Given the description of an element on the screen output the (x, y) to click on. 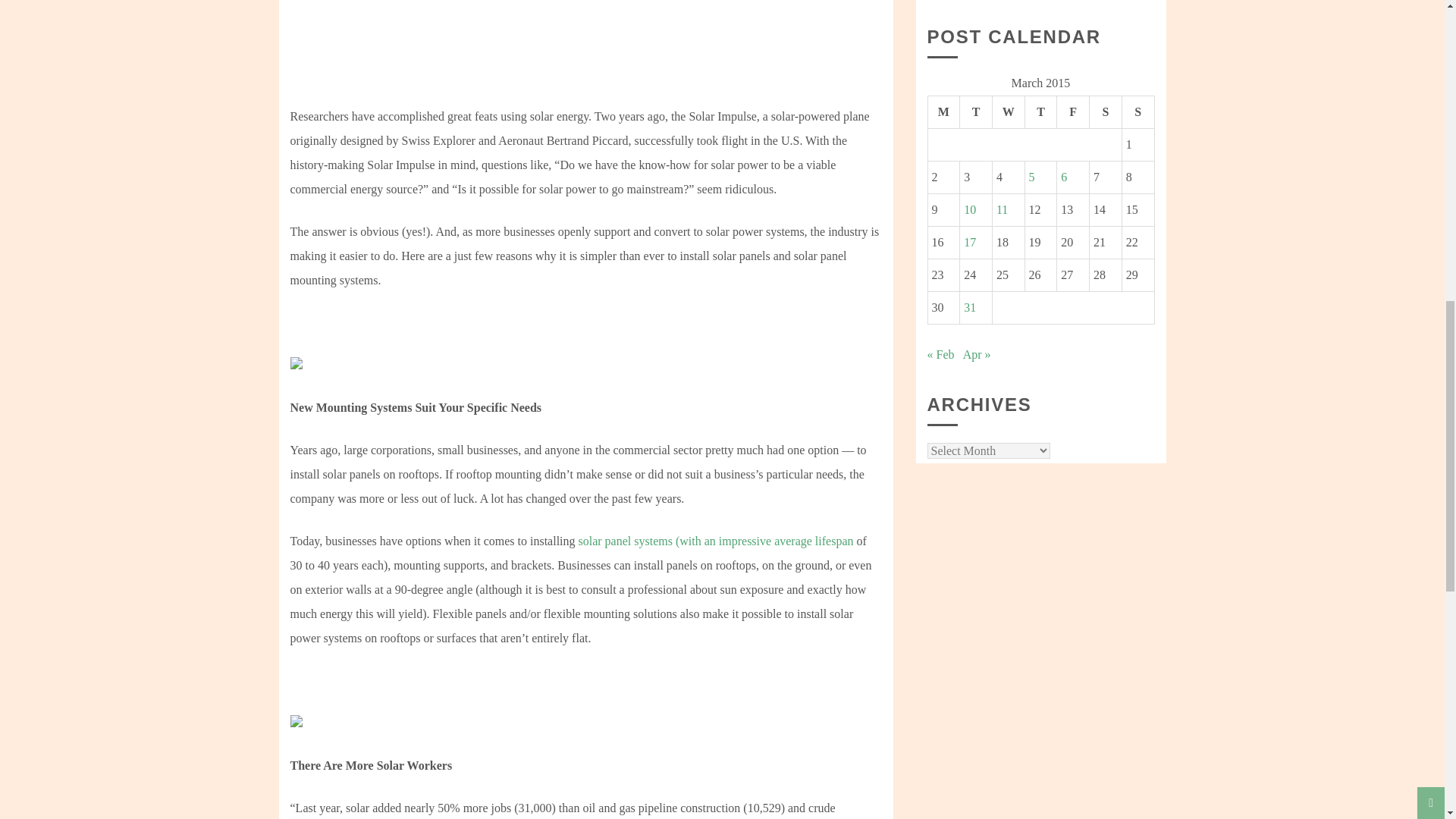
What is Solar Energy? (531, 18)
Saturday (1105, 111)
Wednesday (1008, 111)
More stuff (715, 540)
17 (969, 241)
10 (969, 209)
Sunday (1137, 111)
31 (969, 307)
Friday (1073, 111)
Thursday (1041, 111)
Monday (943, 111)
Tuesday (975, 111)
